Given the description of an element on the screen output the (x, y) to click on. 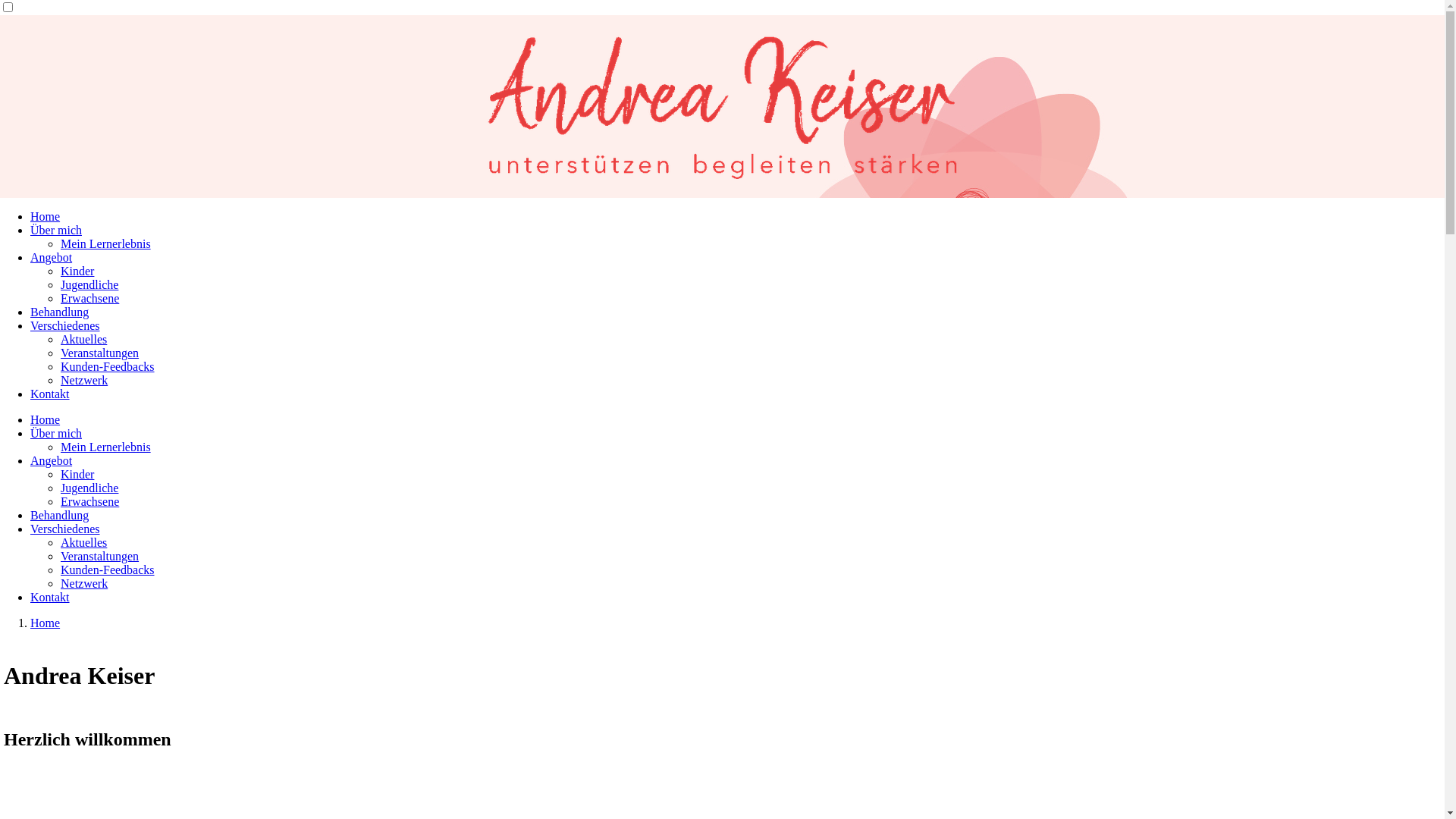
Erwachsene Element type: text (89, 501)
Aktuelles Element type: text (83, 338)
Aktuelles Element type: text (83, 542)
Kunden-Feedbacks Element type: text (107, 366)
Behandlung Element type: text (59, 311)
Netzwerk Element type: text (83, 583)
Kunden-Feedbacks Element type: text (107, 569)
Behandlung Element type: text (59, 514)
Verschiedenes Element type: text (65, 325)
Jugendliche Element type: text (89, 487)
Kontakt Element type: text (49, 393)
Home Element type: text (44, 419)
Kinder Element type: text (77, 270)
Kontakt Element type: text (49, 596)
Erwachsene Element type: text (89, 297)
Angebot Element type: text (51, 257)
Angebot Element type: text (51, 460)
Mein Lernerlebnis Element type: text (105, 446)
Home Element type: text (44, 216)
Mein Lernerlebnis Element type: text (105, 243)
Verschiedenes Element type: text (65, 528)
Veranstaltungen Element type: text (99, 555)
Kinder Element type: text (77, 473)
Veranstaltungen Element type: text (99, 352)
Home Element type: text (44, 622)
Jugendliche Element type: text (89, 284)
Netzwerk Element type: text (83, 379)
